Given the description of an element on the screen output the (x, y) to click on. 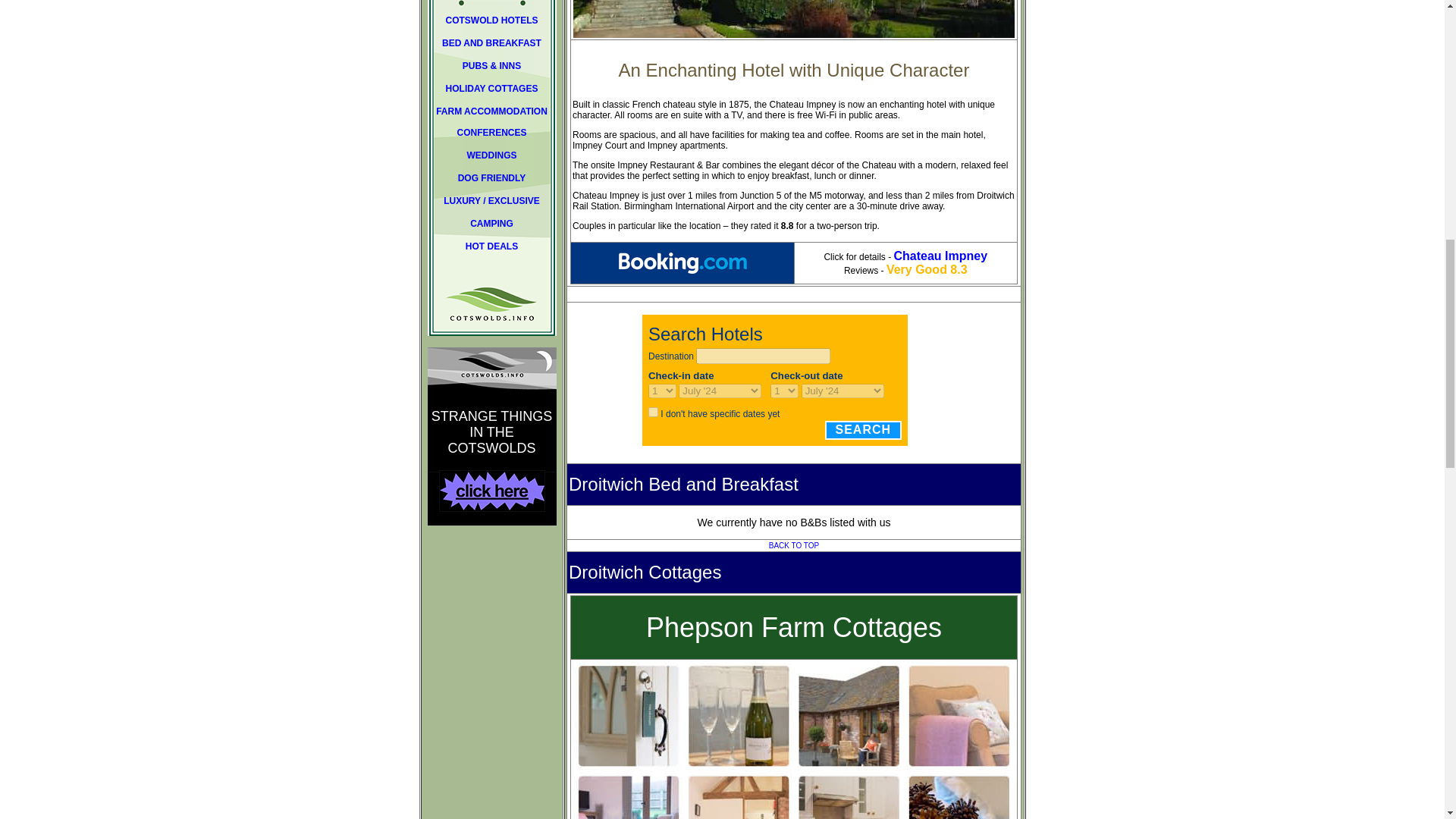
BED AND BREAKFAST (491, 42)
COTSWOLD HOTELS (491, 25)
